Given the description of an element on the screen output the (x, y) to click on. 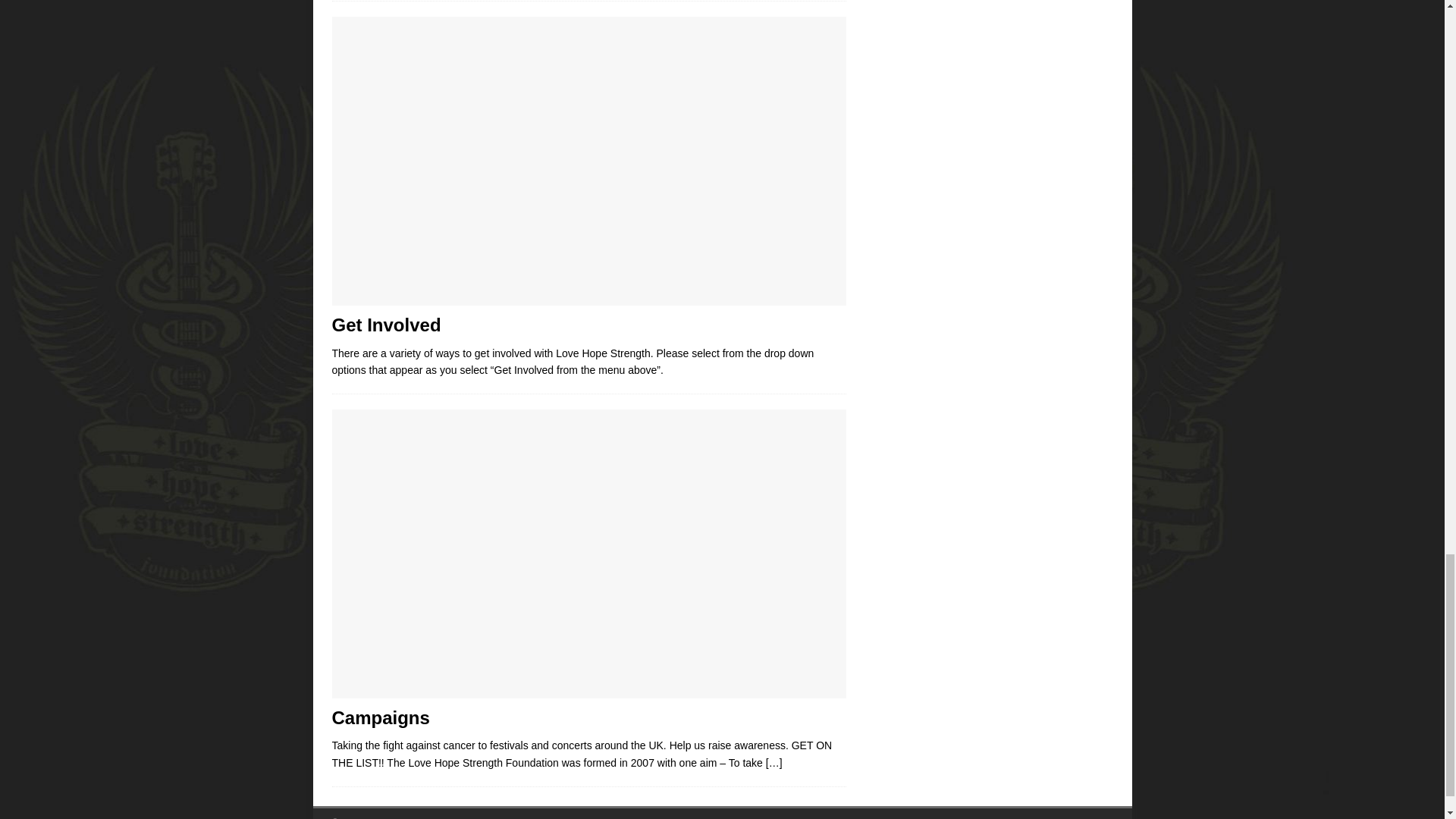
Get Involved (386, 324)
